Given the description of an element on the screen output the (x, y) to click on. 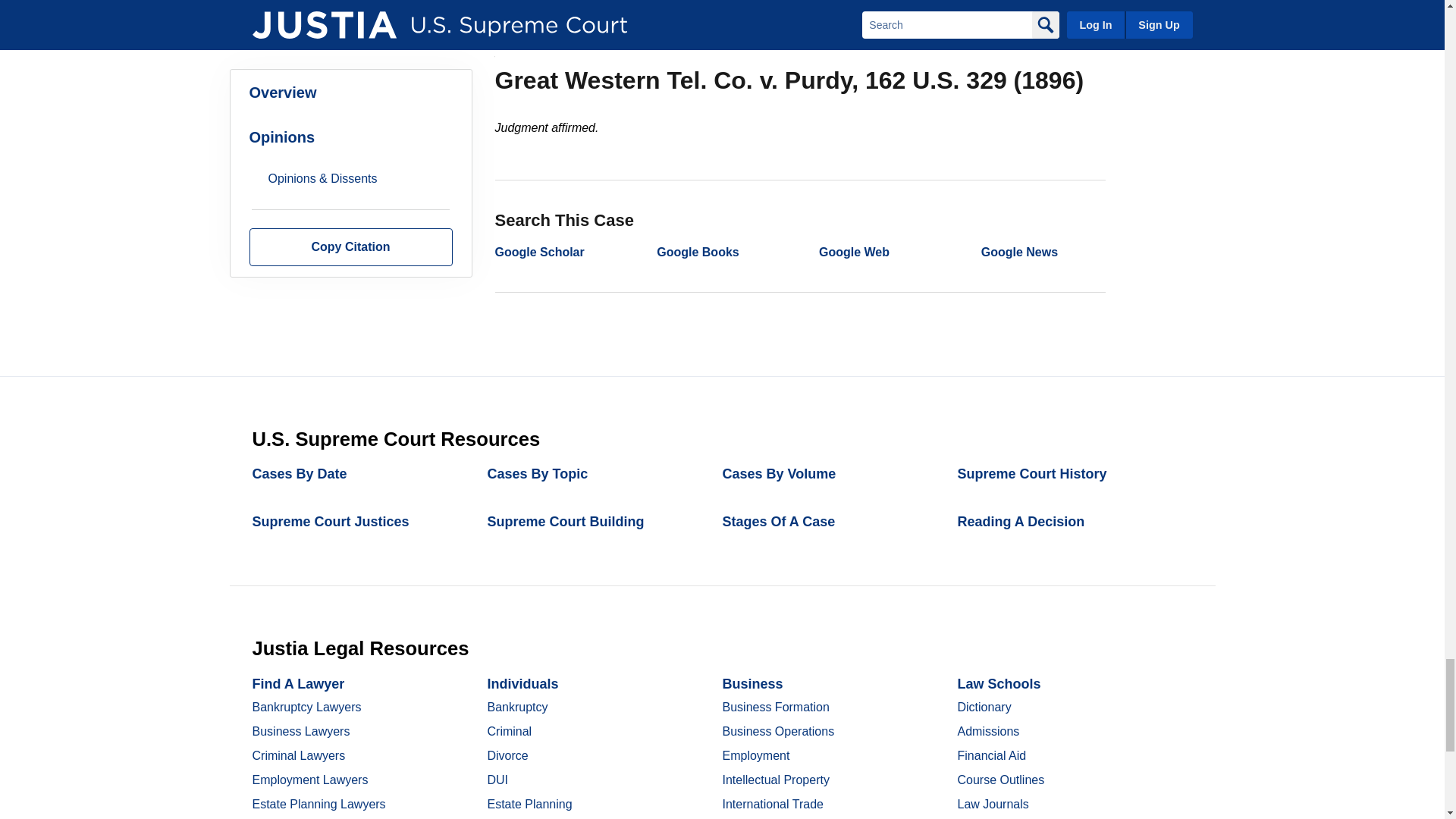
Law - Google Scholar (539, 251)
Law - Google Books (697, 251)
Law - Google News (1019, 251)
Law - Google Web (853, 251)
